Given the description of an element on the screen output the (x, y) to click on. 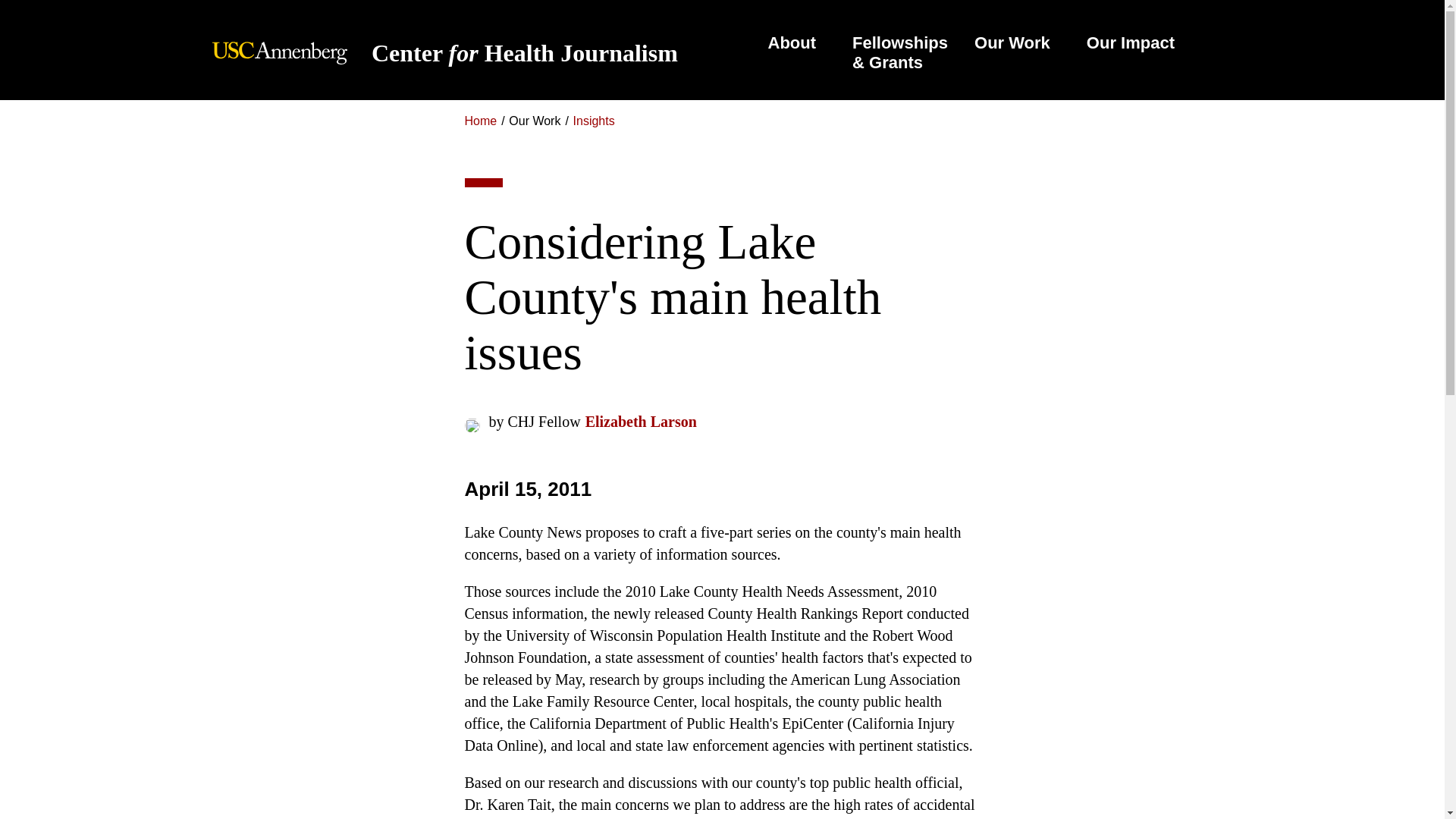
Skip to main content (791, 43)
